Given the description of an element on the screen output the (x, y) to click on. 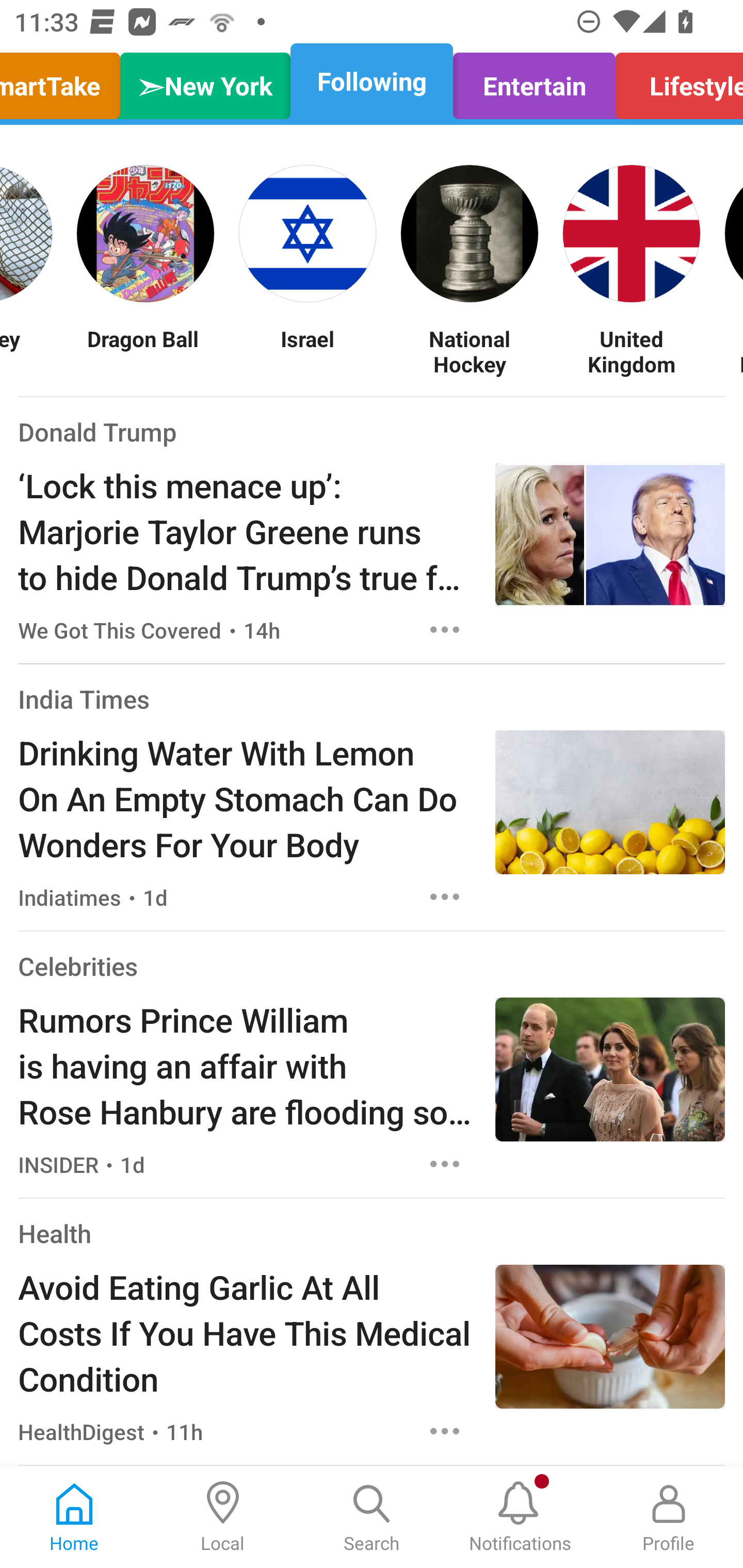
➣New York (205, 81)
Following (371, 81)
Entertain (534, 81)
Dragon Ball  (145, 350)
Israel (307, 350)
National Hockey League (469, 350)
United Kingdom (631, 350)
Donald Trump (97, 430)
Options (444, 629)
India Times (83, 699)
Options (444, 896)
Celebrities (77, 965)
Options (444, 1164)
Health (54, 1232)
Options (444, 1431)
Local (222, 1517)
Search (371, 1517)
Notifications, New notification Notifications (519, 1517)
Profile (668, 1517)
